Given the description of an element on the screen output the (x, y) to click on. 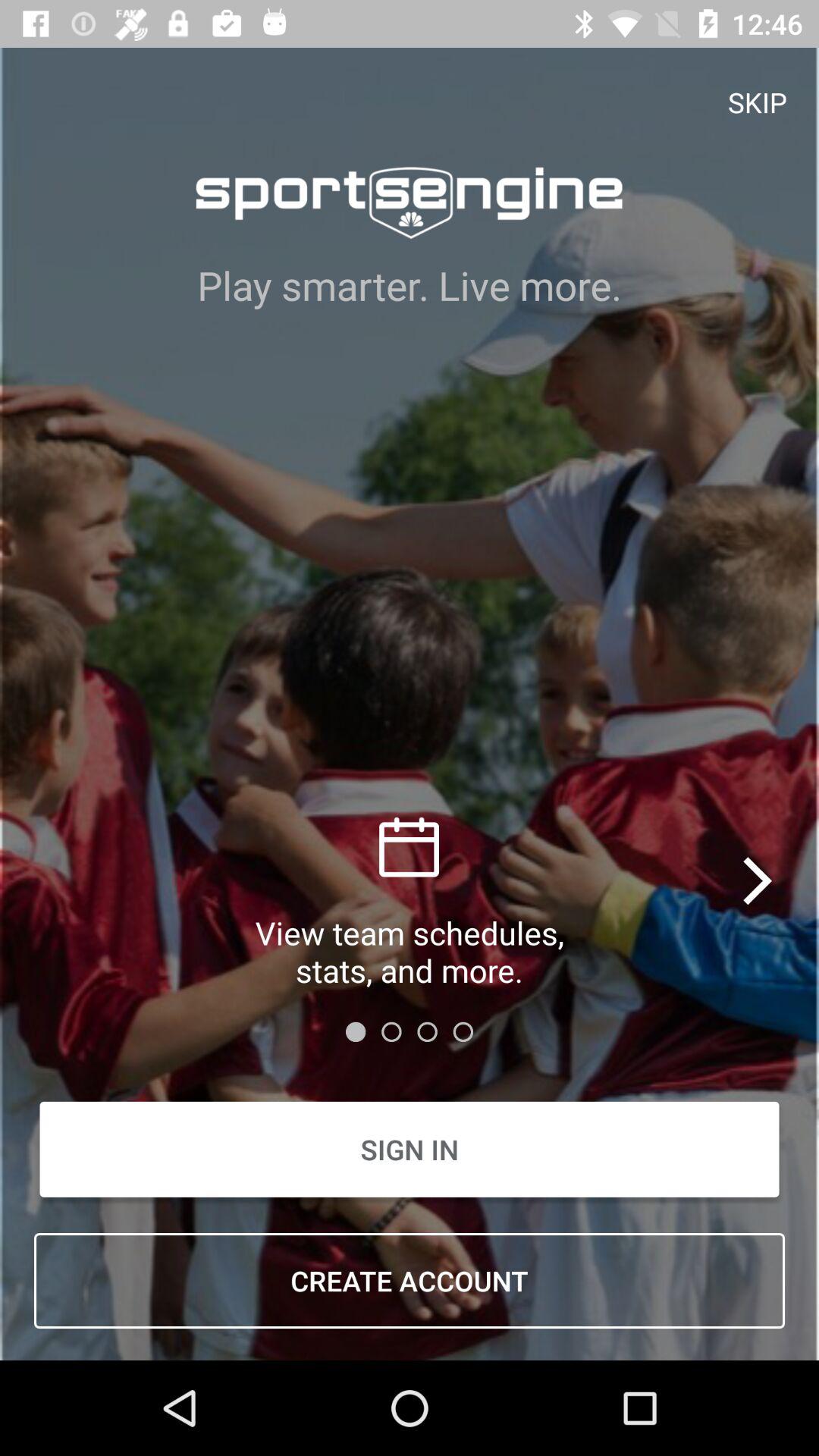
launch item above create account (409, 1149)
